Given the description of an element on the screen output the (x, y) to click on. 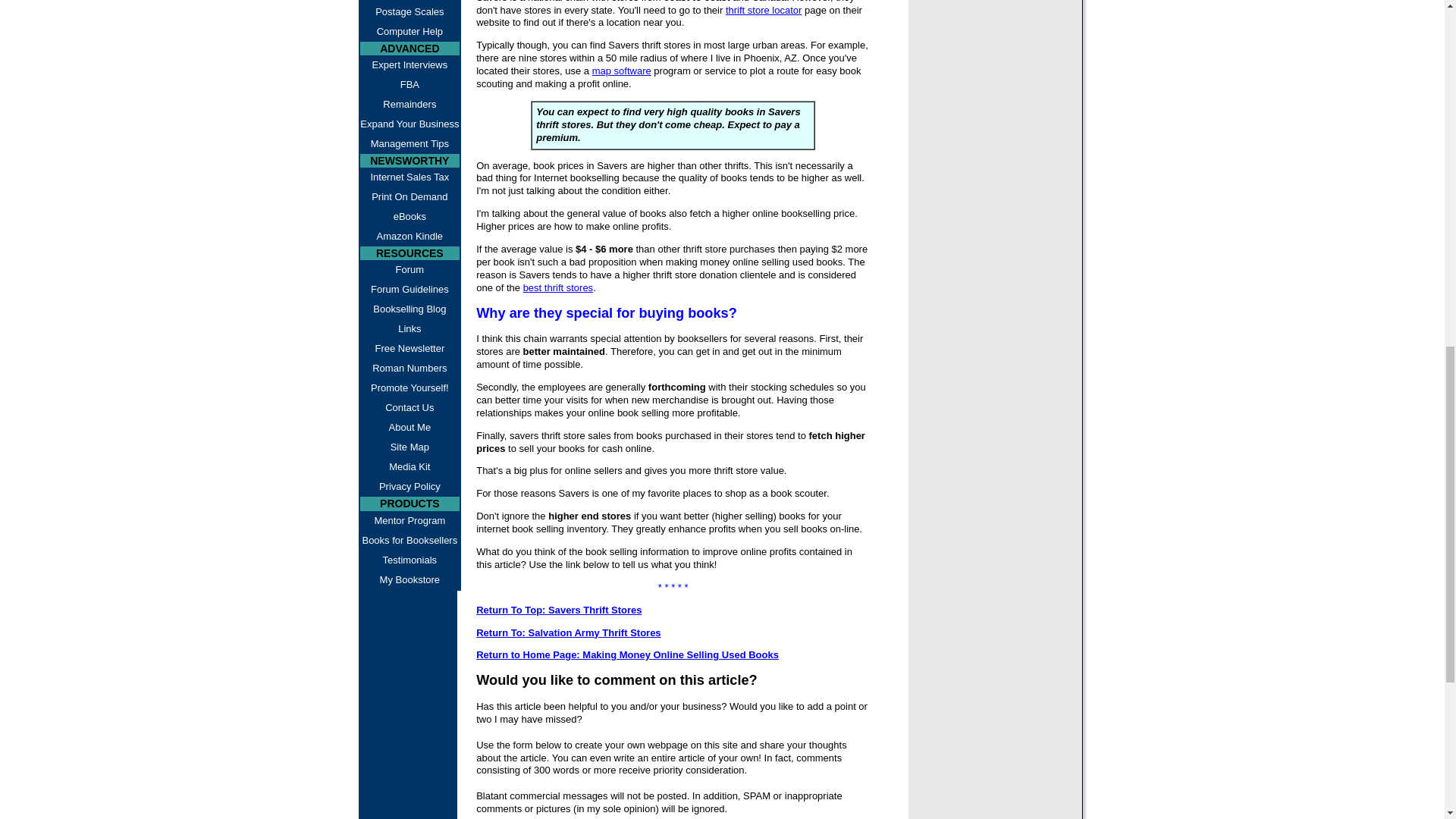
Management Tips (409, 143)
Expand Your Business (409, 124)
Remainders (409, 104)
Internet Sales Tax (409, 177)
Print On Demand (409, 197)
FBA (409, 85)
Online Postage (409, 1)
Postage Scales (409, 12)
Expert Interviews (409, 65)
eBooks (409, 216)
